Given the description of an element on the screen output the (x, y) to click on. 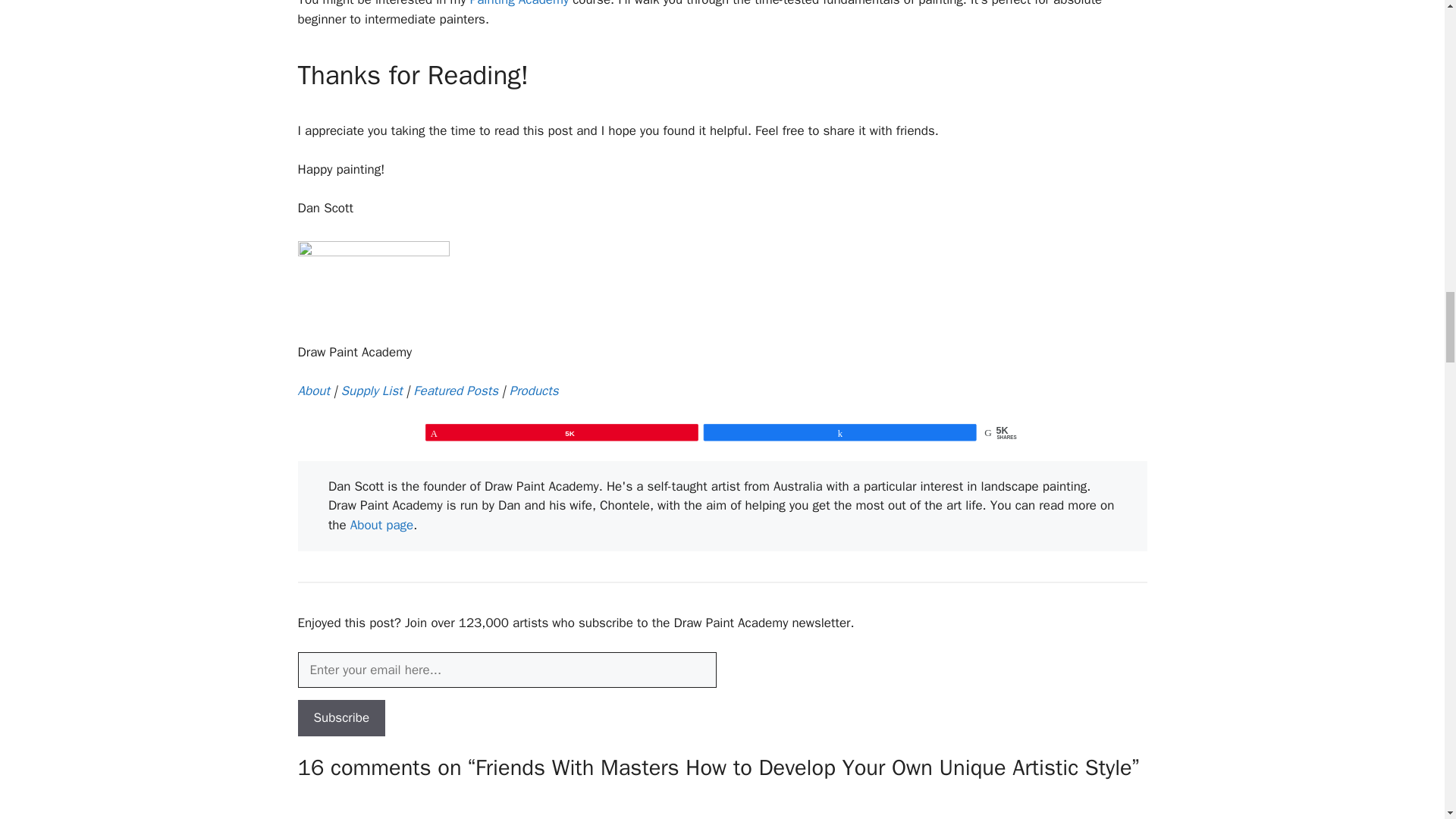
Products (534, 390)
5K (619, 435)
Supply List (371, 390)
About (313, 390)
Featured Posts (455, 390)
Painting Academy (519, 3)
Subscribe (341, 718)
